Given the description of an element on the screen output the (x, y) to click on. 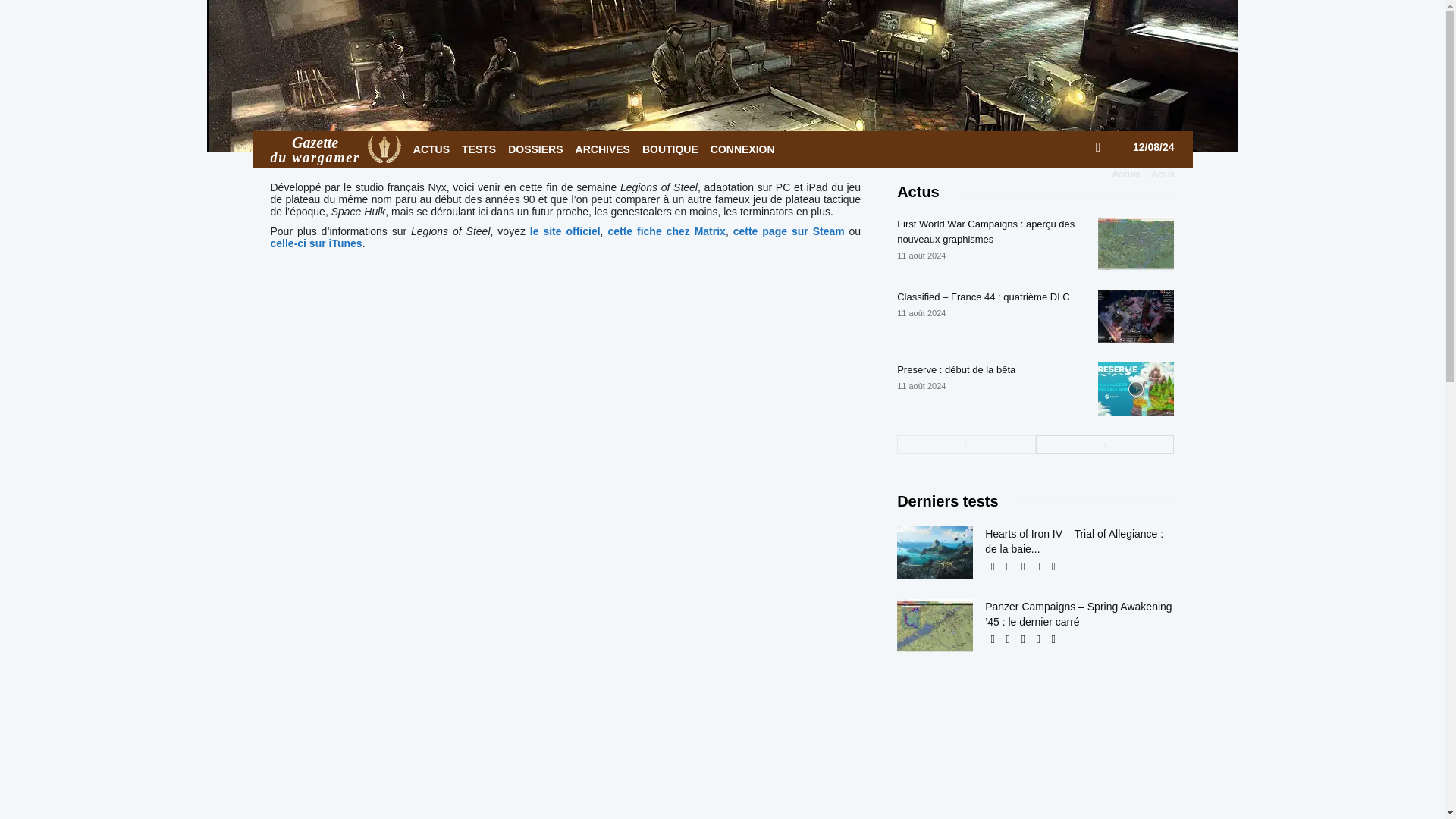
TESTS (478, 149)
Science-Fiction (644, 93)
Actus (468, 93)
Sur mobiles (523, 93)
Accueil (1126, 173)
ARCHIVES (602, 149)
Gazette du wargamer (384, 148)
ACTUS (334, 149)
BOUTIQUE (431, 149)
